Given the description of an element on the screen output the (x, y) to click on. 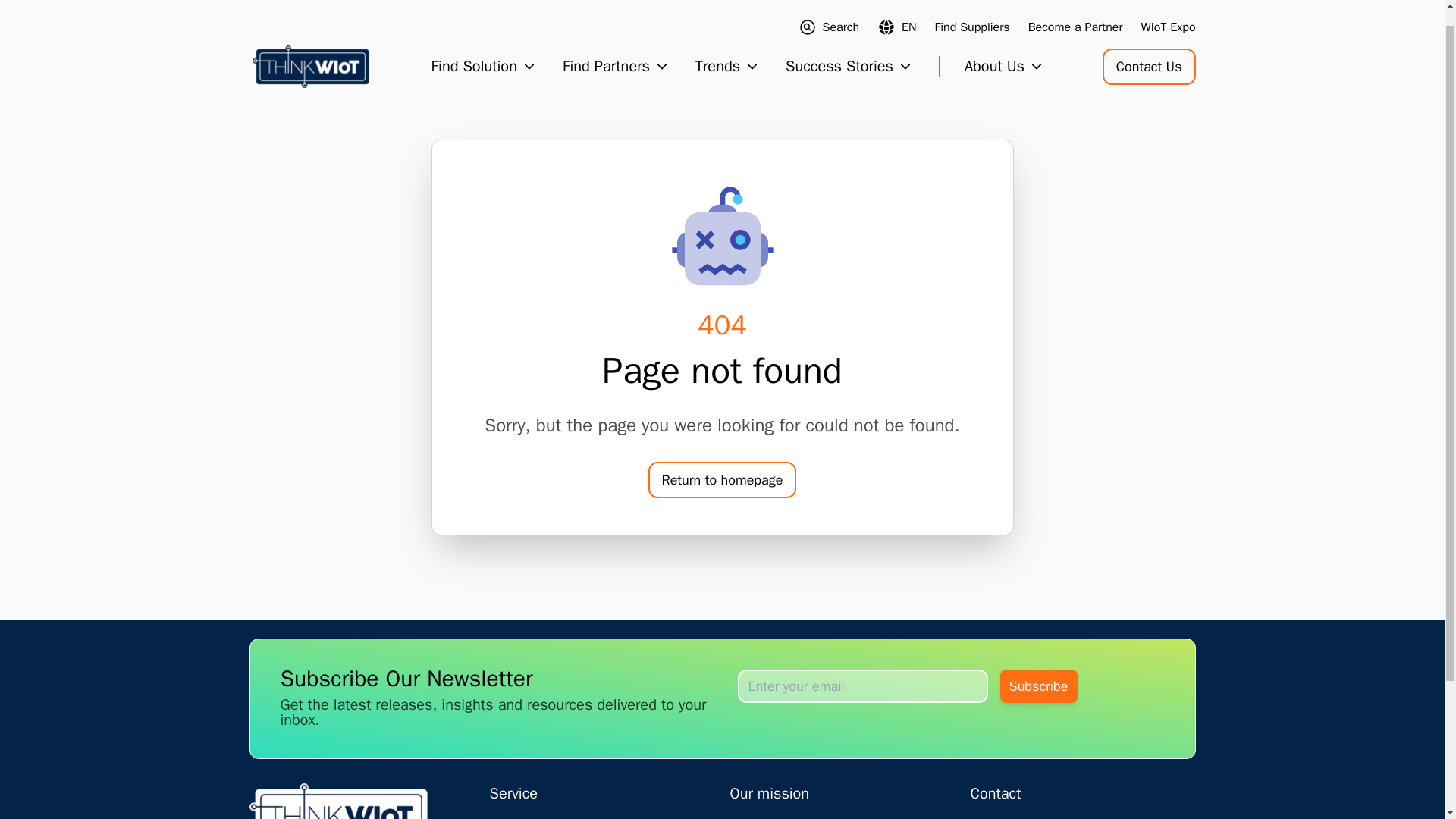
Search (828, 9)
Contact Us (1148, 48)
EN (897, 9)
Success Stories (850, 47)
Find Suppliers (972, 9)
Trends (728, 47)
About Us (992, 47)
Become a Partner (1074, 9)
Find Partners (616, 47)
Find Solution (484, 47)
WIoT Expo (1168, 9)
